Given the description of an element on the screen output the (x, y) to click on. 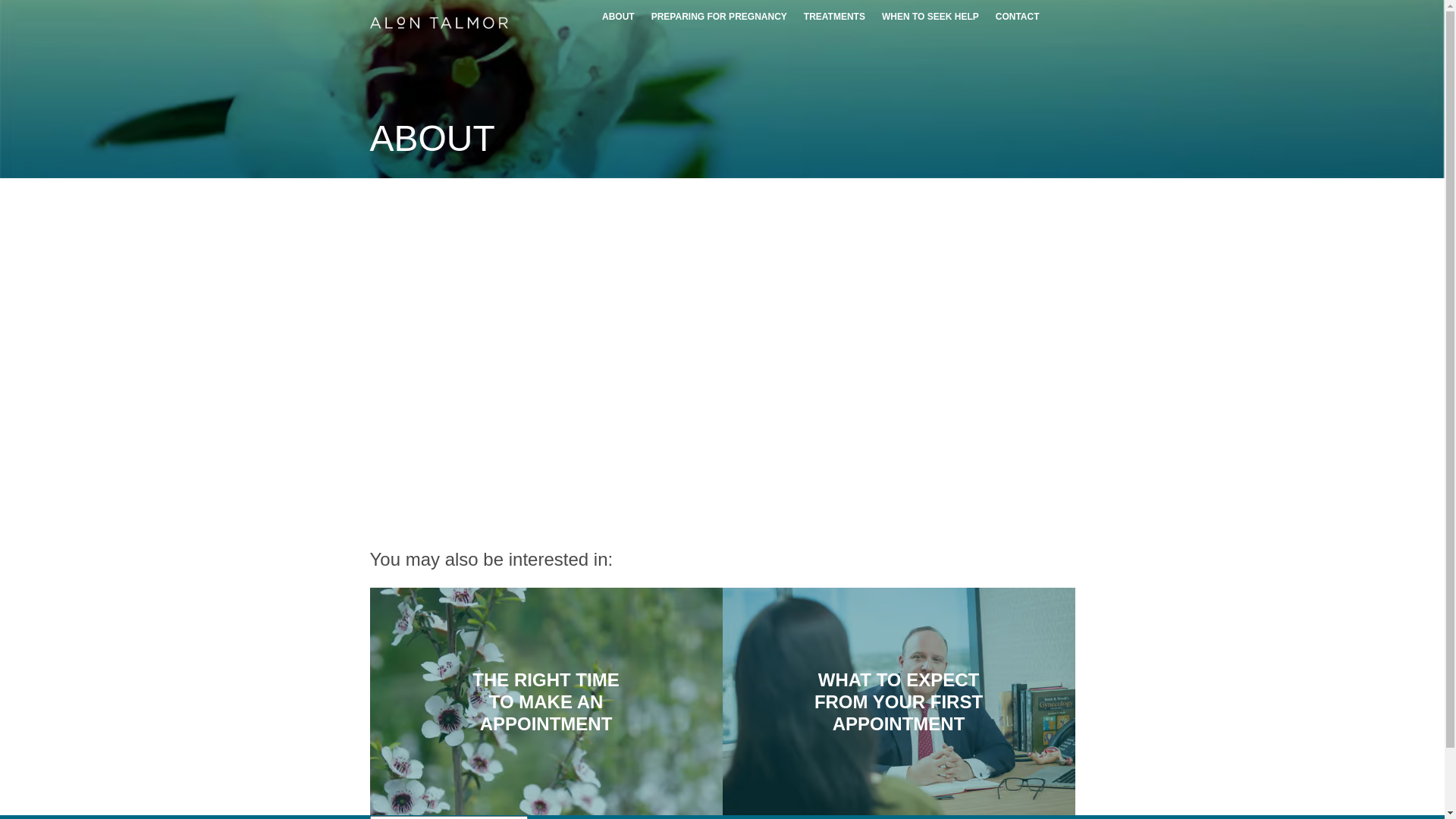
PREPARING FOR PREGNANCY Element type: text (719, 16)
ABOUT Element type: text (618, 16)
THE RIGHT TIME TO MAKE AN APPOINTMENT Element type: text (546, 701)
WHEN TO SEEK HELP Element type: text (930, 16)
CONTACT Element type: text (1017, 16)
TREATMENTS Element type: text (834, 16)
WHAT TO EXPECT FROM YOUR FIRST APPOINTMENT Element type: text (897, 701)
